Given the description of an element on the screen output the (x, y) to click on. 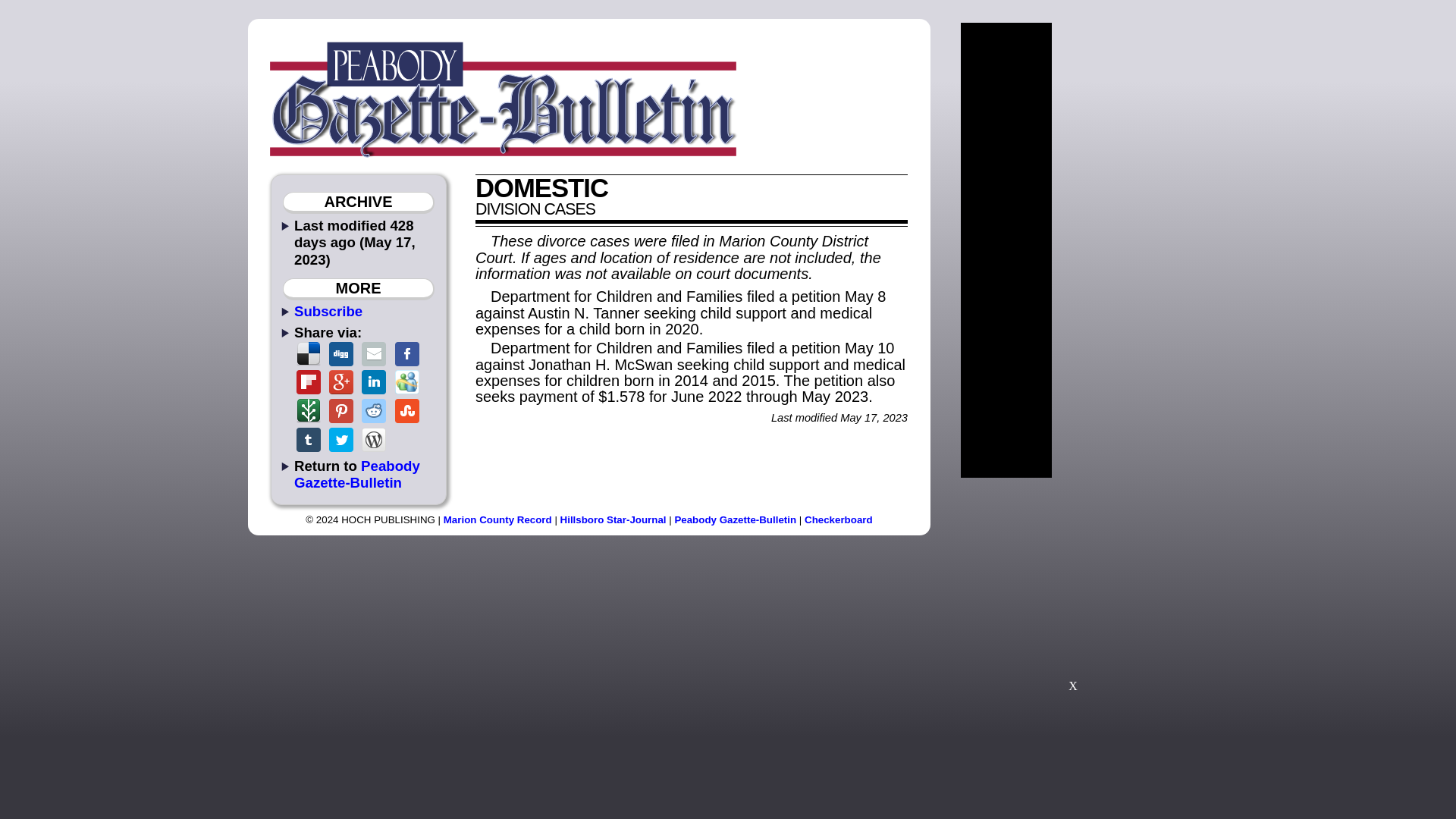
Peabody Gazette-Bulletin (735, 519)
Hillsboro Star-Journal (613, 519)
Marion County Record (497, 519)
Checkerboard (838, 519)
Advertisement (1072, 591)
Subscribe (328, 311)
Peabody Gazette-Bulletin (357, 473)
